Given the description of an element on the screen output the (x, y) to click on. 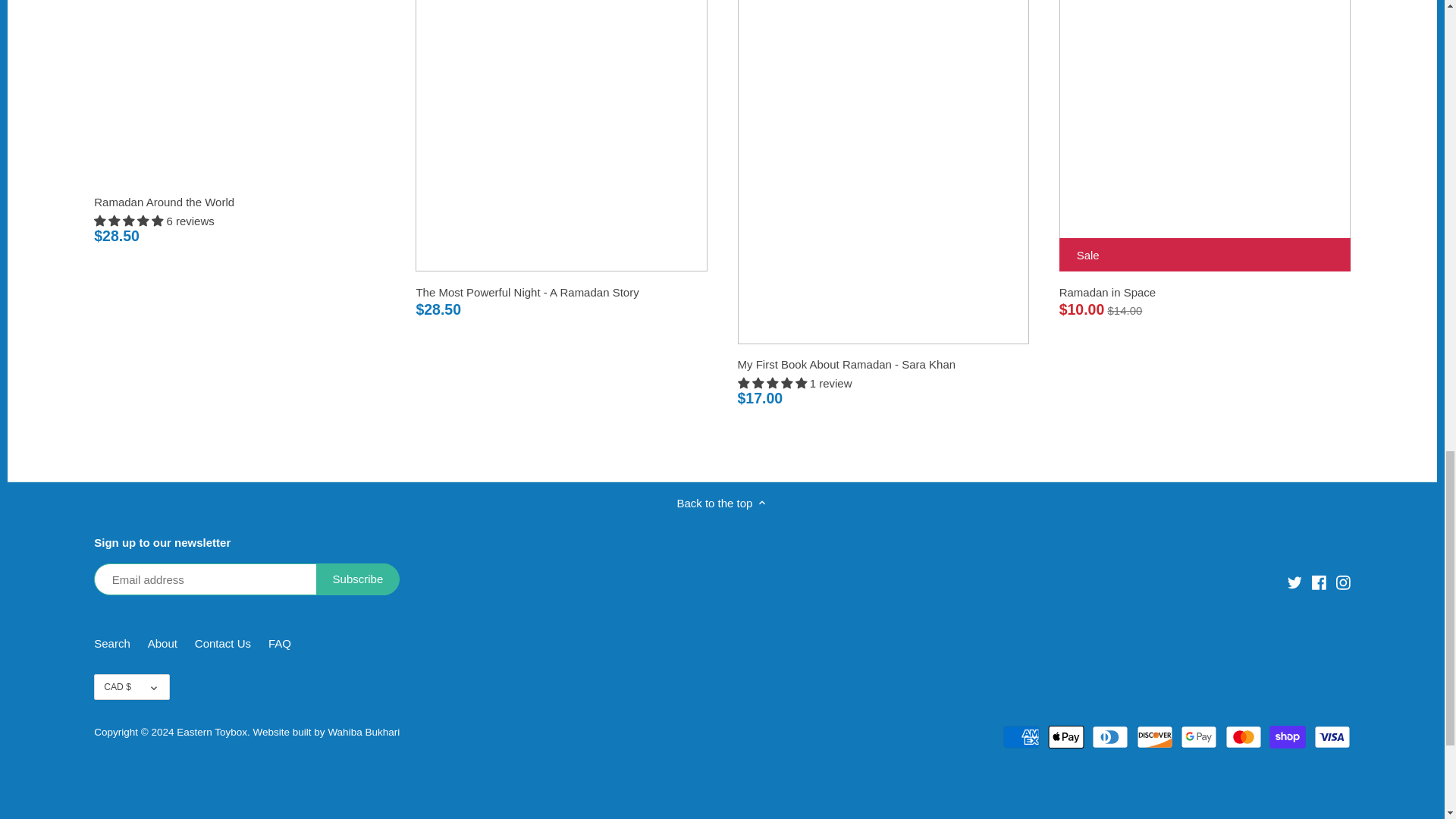
American Express (1021, 736)
Discover (1155, 736)
Diners Club (1110, 736)
Facebook (1318, 580)
Facebook (1318, 582)
Apple Pay (1066, 736)
Subscribe (357, 579)
Instagram (1343, 580)
Instagram (1342, 582)
Twitter (1294, 582)
Twitter (1294, 580)
